Given the description of an element on the screen output the (x, y) to click on. 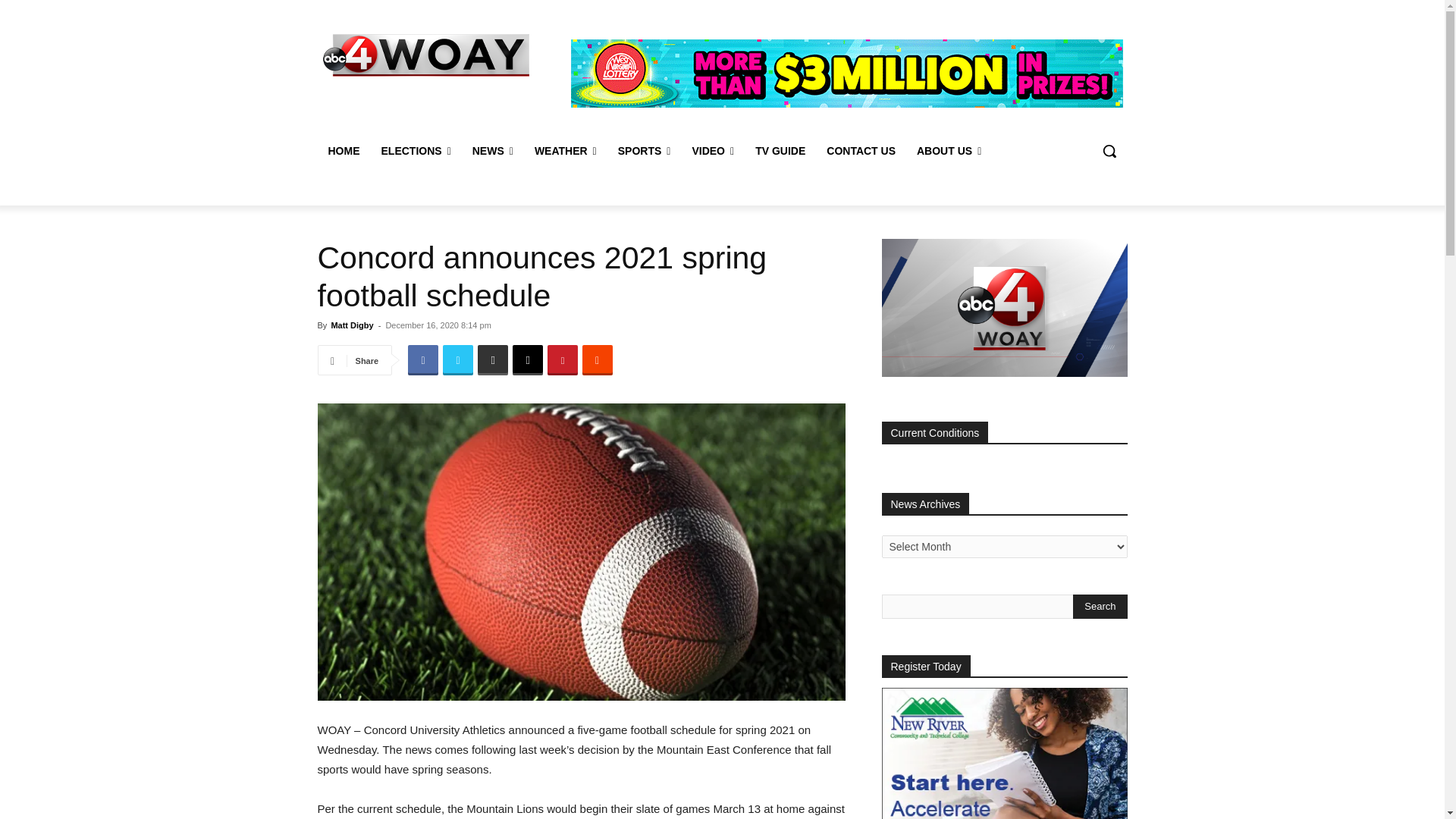
WOAY News (426, 55)
Pinterest (562, 359)
Facebook (422, 359)
Email (527, 359)
Print (492, 359)
Search (1099, 606)
WOAY News (425, 55)
ReddIt (597, 359)
Twitter (457, 359)
